Given the description of an element on the screen output the (x, y) to click on. 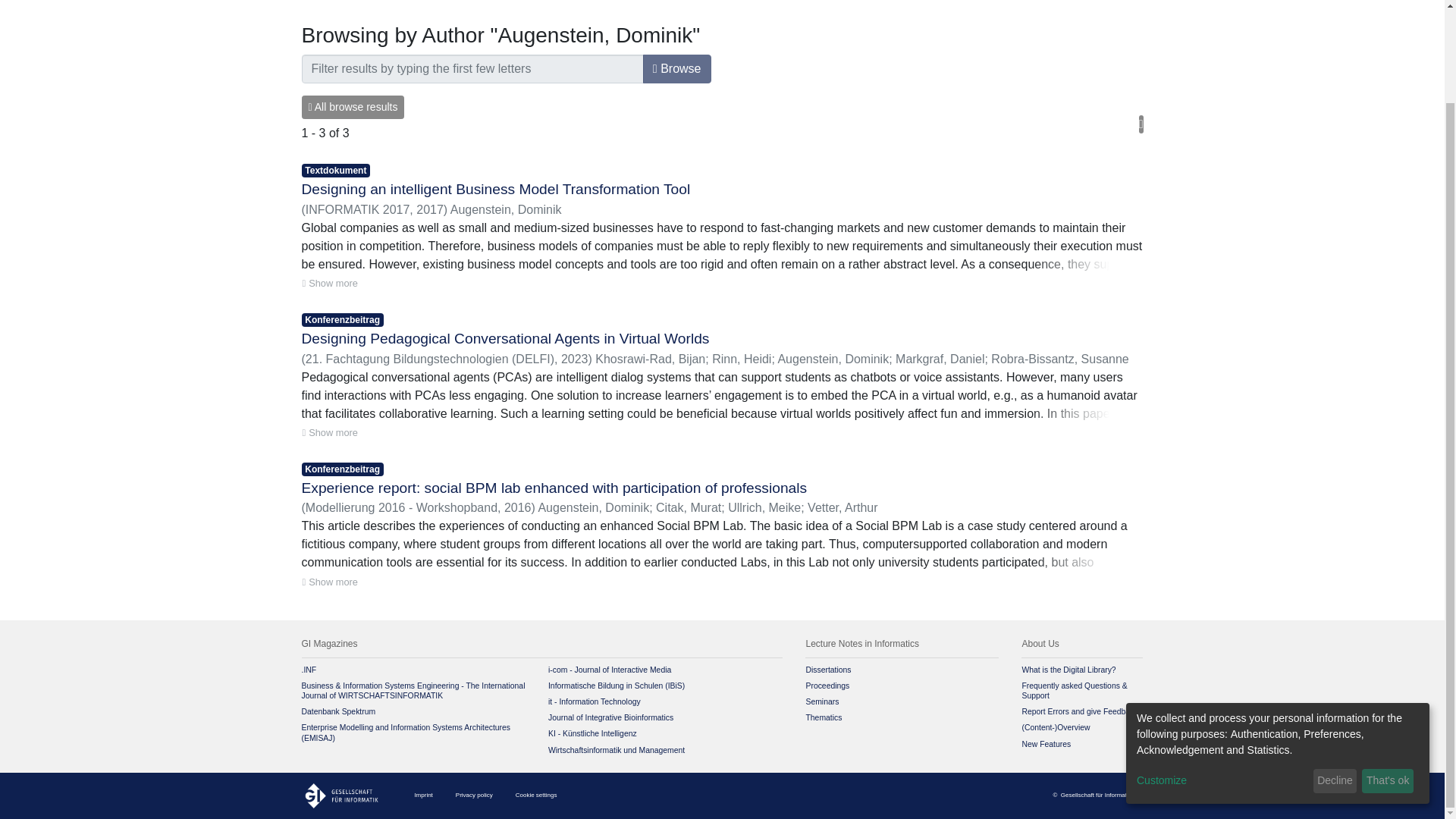
Designing an intelligent Business Model Transformation Tool (495, 188)
Show more (329, 283)
Show more (329, 432)
Journal of Integrative Bioinformatics (610, 717)
it - Information Technology (594, 701)
.INF (309, 669)
Datenbank Spektrum (338, 711)
Show more (329, 581)
All browse results (352, 106)
i-com - Journal of Interactive Media (609, 669)
Browse (677, 68)
